Given the description of an element on the screen output the (x, y) to click on. 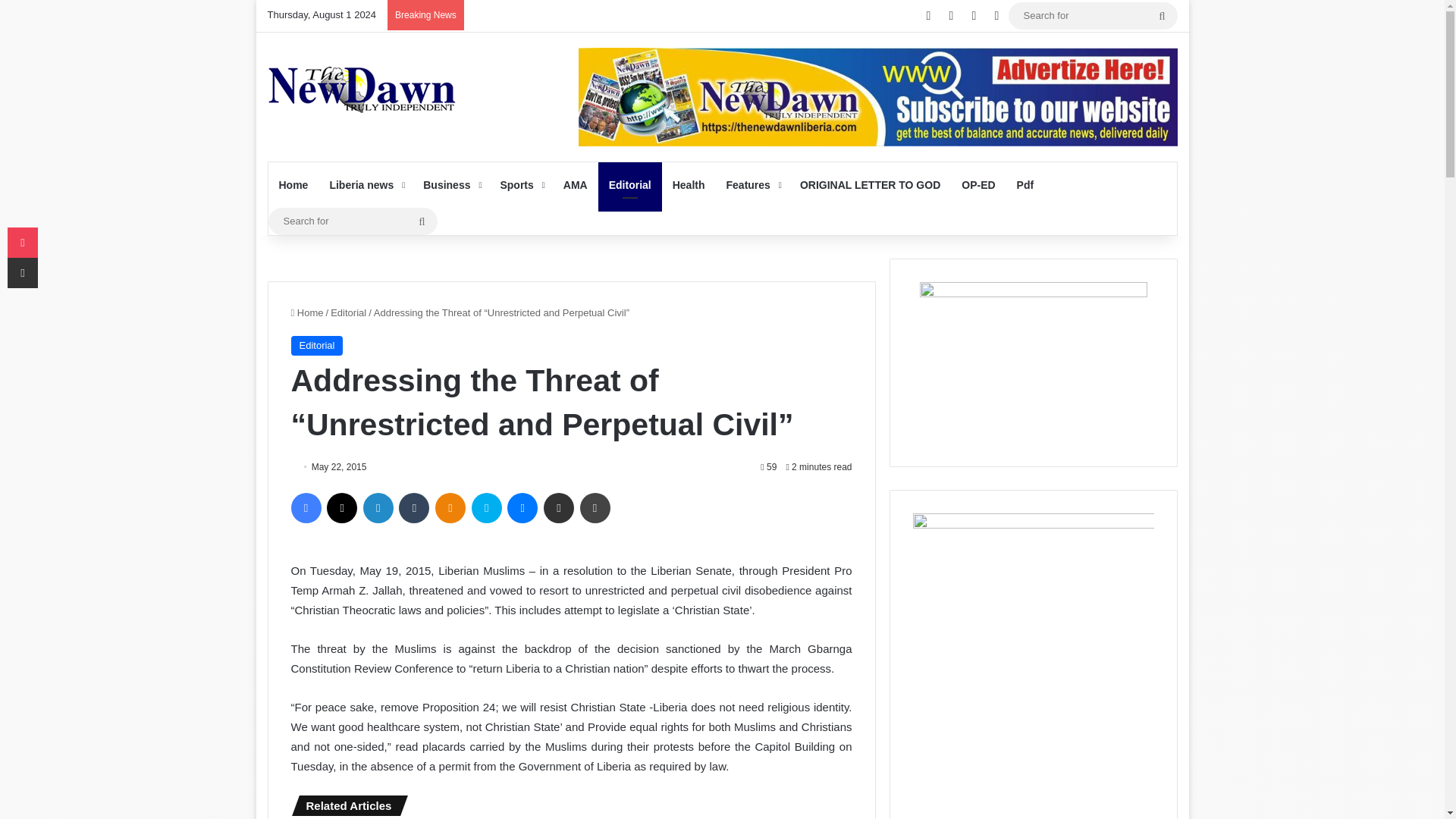
Liberia news (365, 185)
Sports (520, 185)
Search for (1093, 15)
Odnoklassniki (450, 508)
X (341, 508)
Print (594, 508)
Messenger (521, 508)
Skype (486, 508)
Facebook (306, 508)
LinkedIn (377, 508)
